Given the description of an element on the screen output the (x, y) to click on. 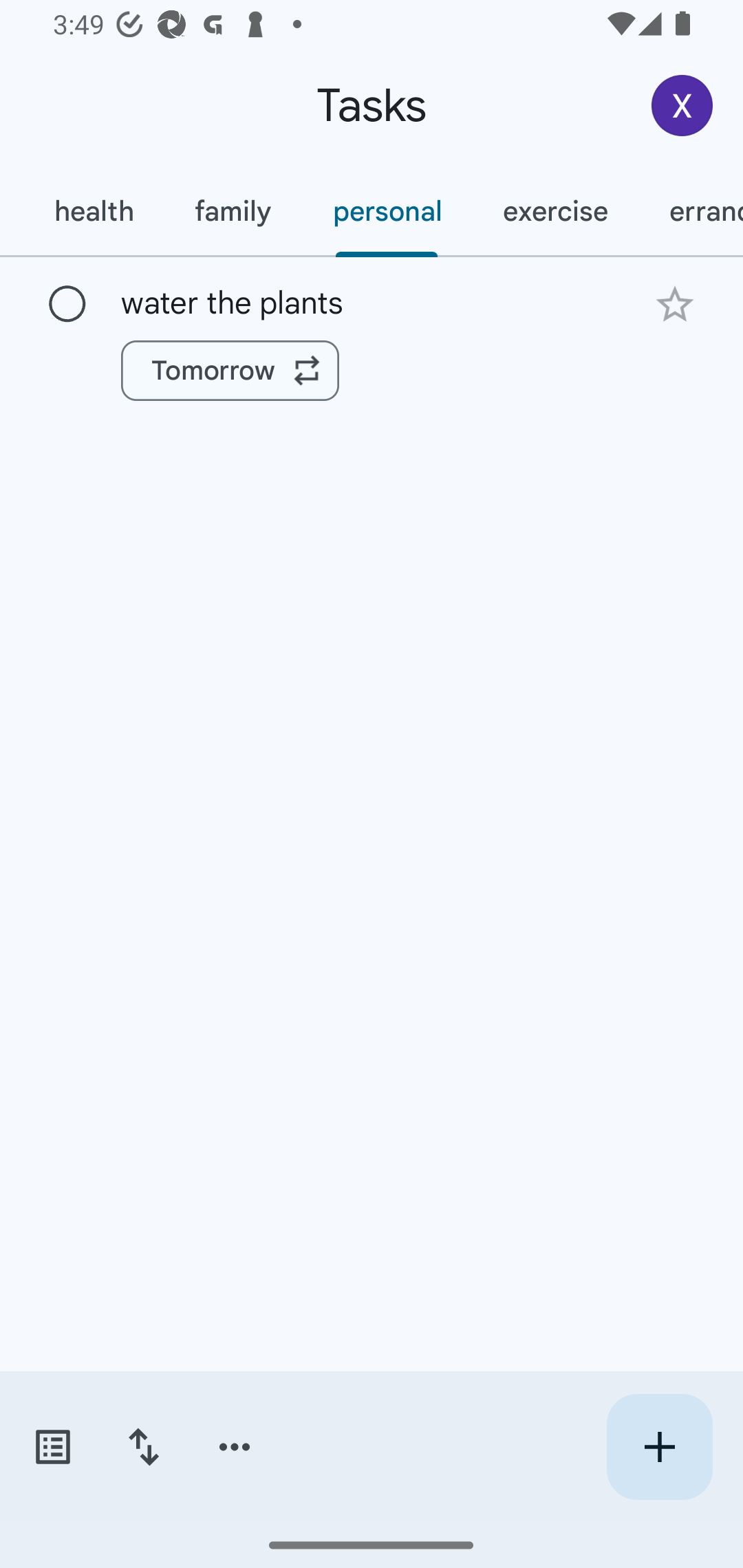
health (93, 211)
family (232, 211)
exercise (554, 211)
errands (690, 211)
Add star (674, 303)
Mark as complete (67, 304)
Tomorrow (229, 369)
Switch task lists (52, 1447)
Create new task (659, 1446)
Change sort order (143, 1446)
More options (234, 1446)
